Given the description of an element on the screen output the (x, y) to click on. 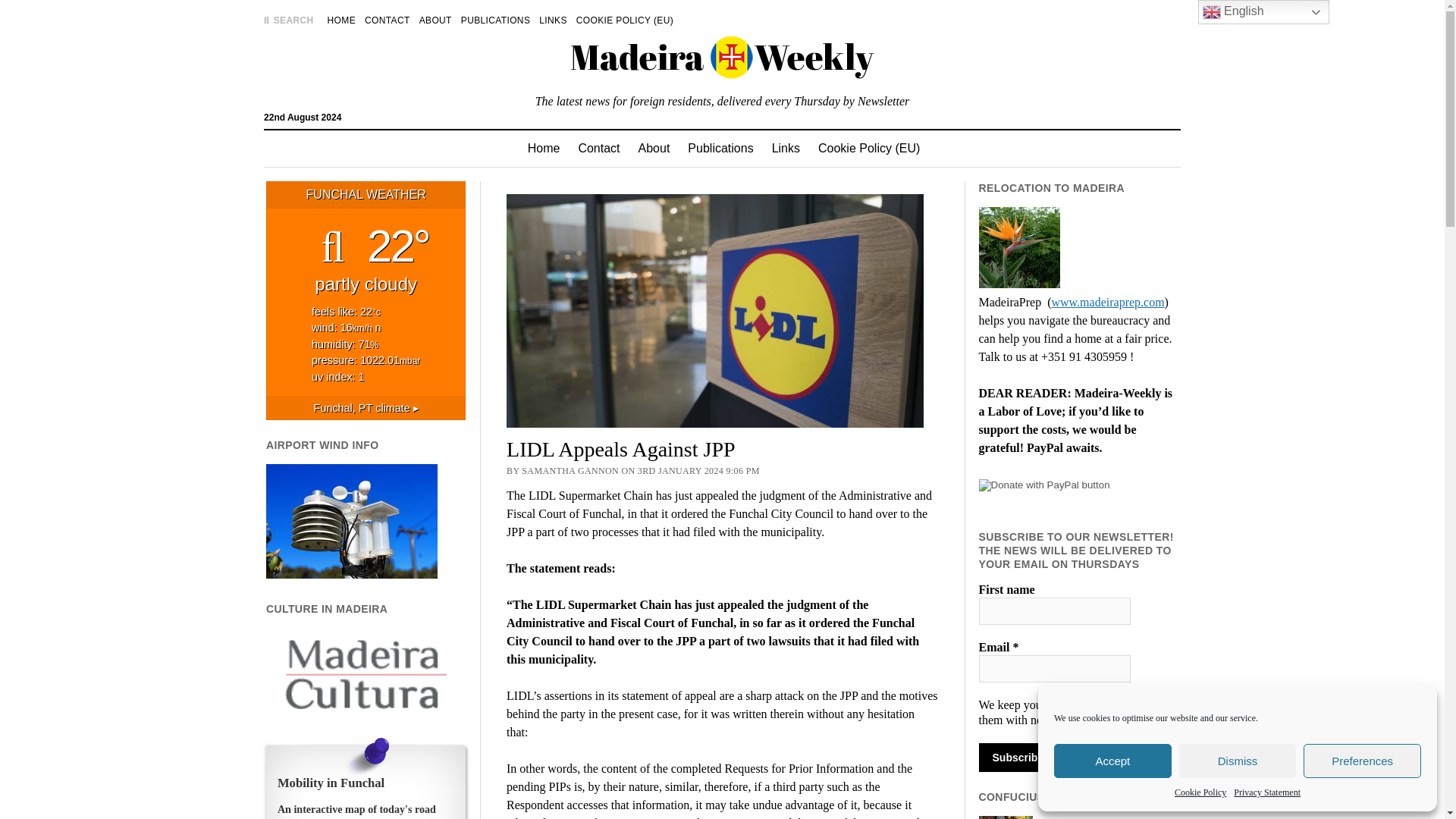
PayPal - The safer, easier way to pay online! (1043, 485)
Publications (719, 148)
LINKS (552, 20)
ABOUT (435, 20)
PUBLICATIONS (495, 20)
Email (1054, 668)
Subscribe! (1019, 757)
CONTACT (387, 20)
About (653, 148)
HOME (341, 20)
